Given the description of an element on the screen output the (x, y) to click on. 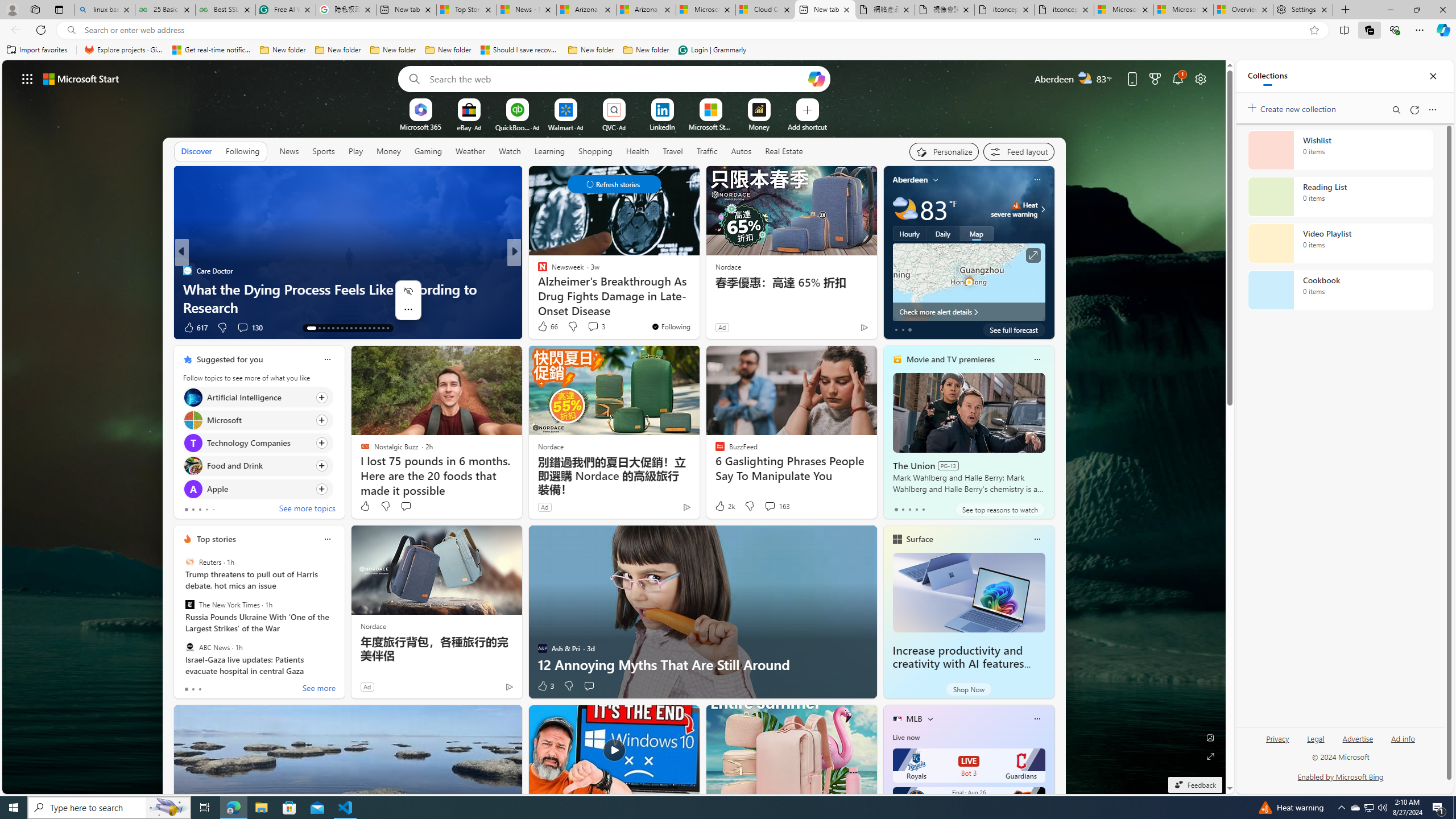
Suggested for you (229, 359)
AutomationID: tab-15 (323, 328)
